Given the description of an element on the screen output the (x, y) to click on. 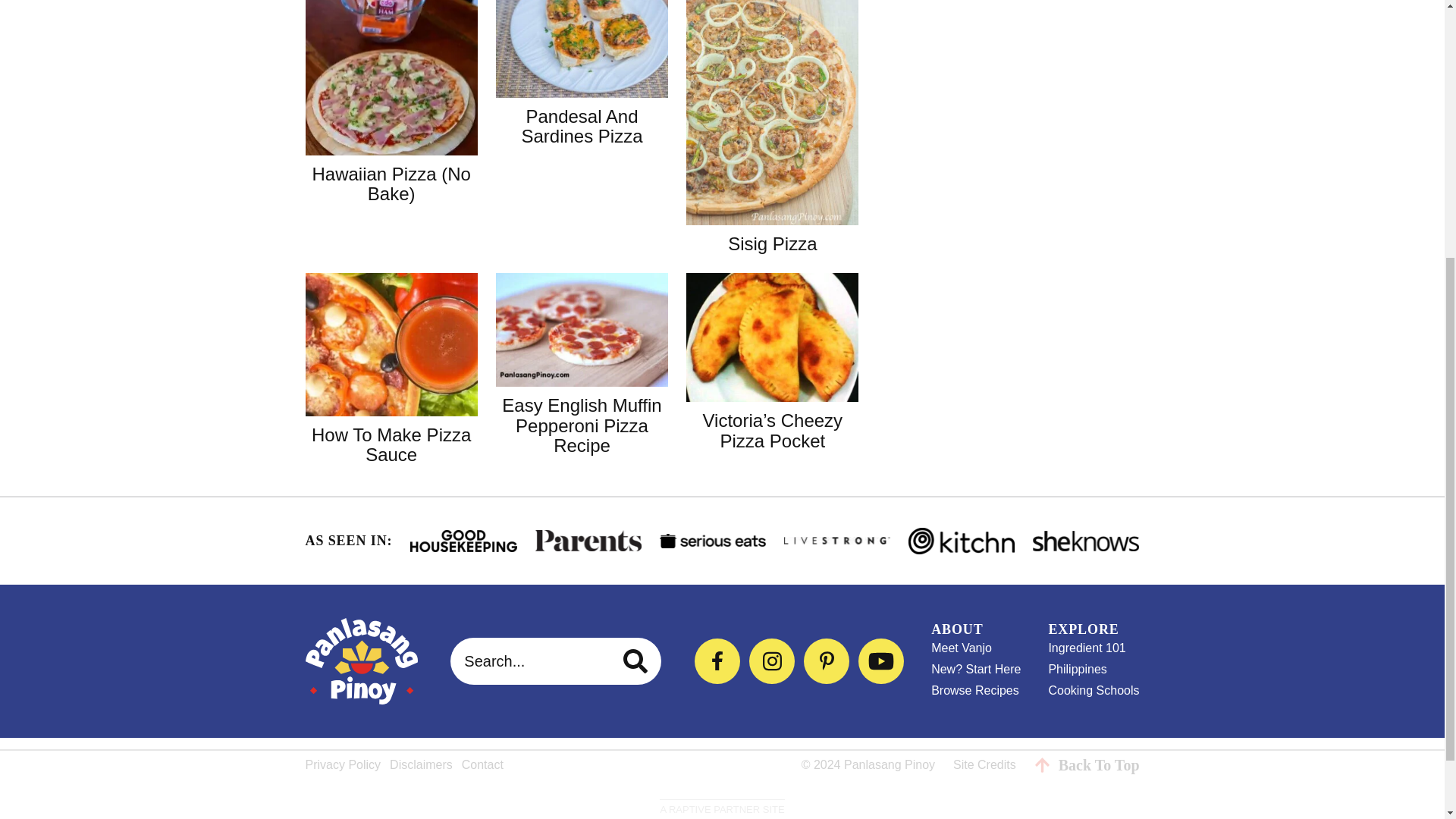
Search (637, 661)
Search (637, 661)
